Given the description of an element on the screen output the (x, y) to click on. 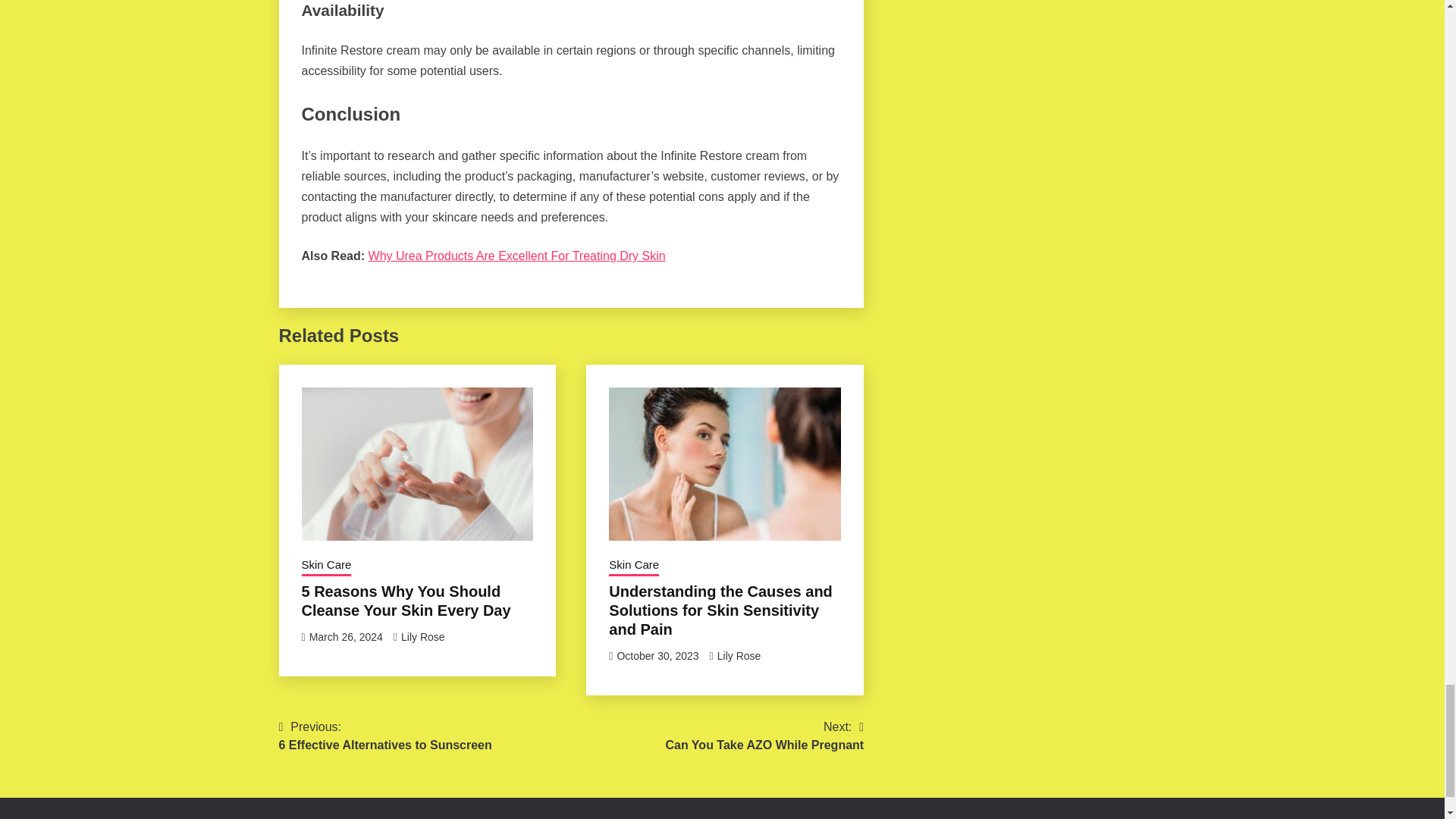
Skin Care (633, 566)
March 26, 2024 (345, 636)
Lily Rose (764, 736)
Skin Care (739, 655)
Lily Rose (326, 566)
October 30, 2023 (423, 636)
Why Urea Products Are Excellent For Treating Dry Skin (385, 736)
